Given the description of an element on the screen output the (x, y) to click on. 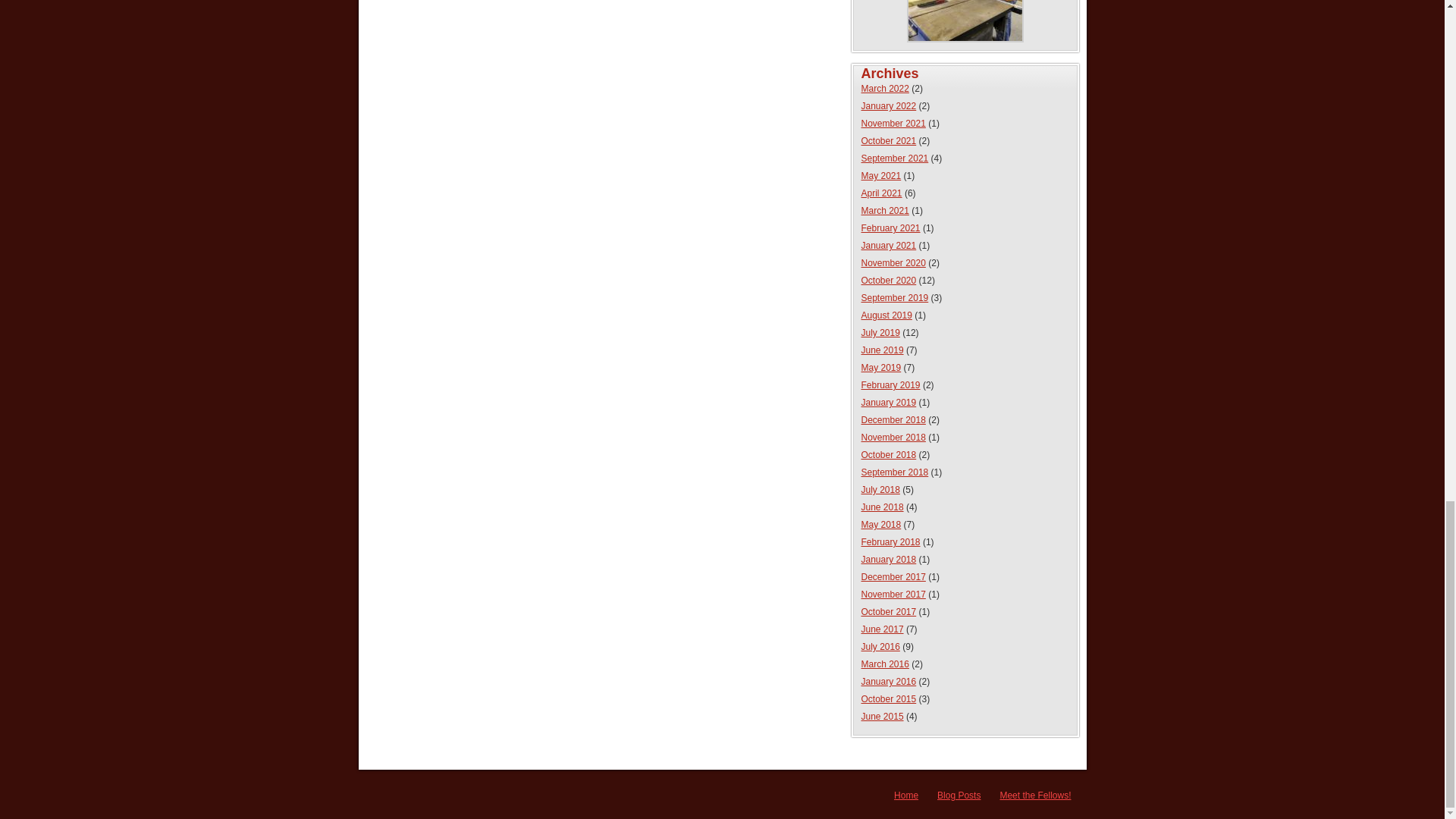
January 2019 (889, 402)
March 2022 (884, 88)
June 2019 (882, 349)
September 2021 (894, 158)
February 2021 (890, 227)
January 2022 (889, 105)
January 2021 (889, 245)
May 2019 (881, 367)
October 2021 (889, 140)
November 2018 (893, 437)
